Given the description of an element on the screen output the (x, y) to click on. 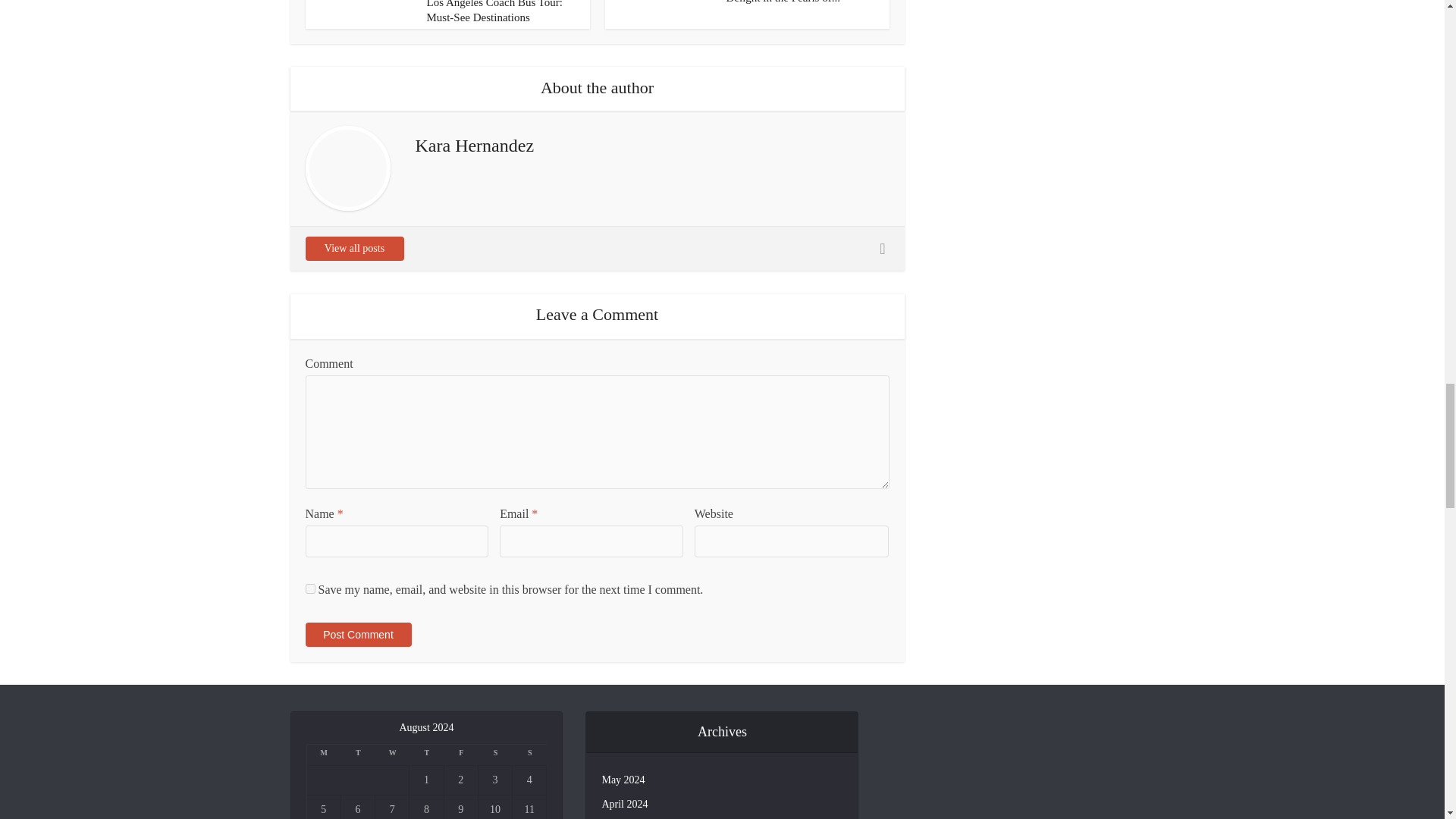
Monday (322, 754)
Wednesday (392, 754)
Tuesday (357, 754)
Post Comment (357, 634)
Los Angeles Coach Bus Tour: Must-See Destinations (494, 11)
yes (309, 588)
